Given the description of an element on the screen output the (x, y) to click on. 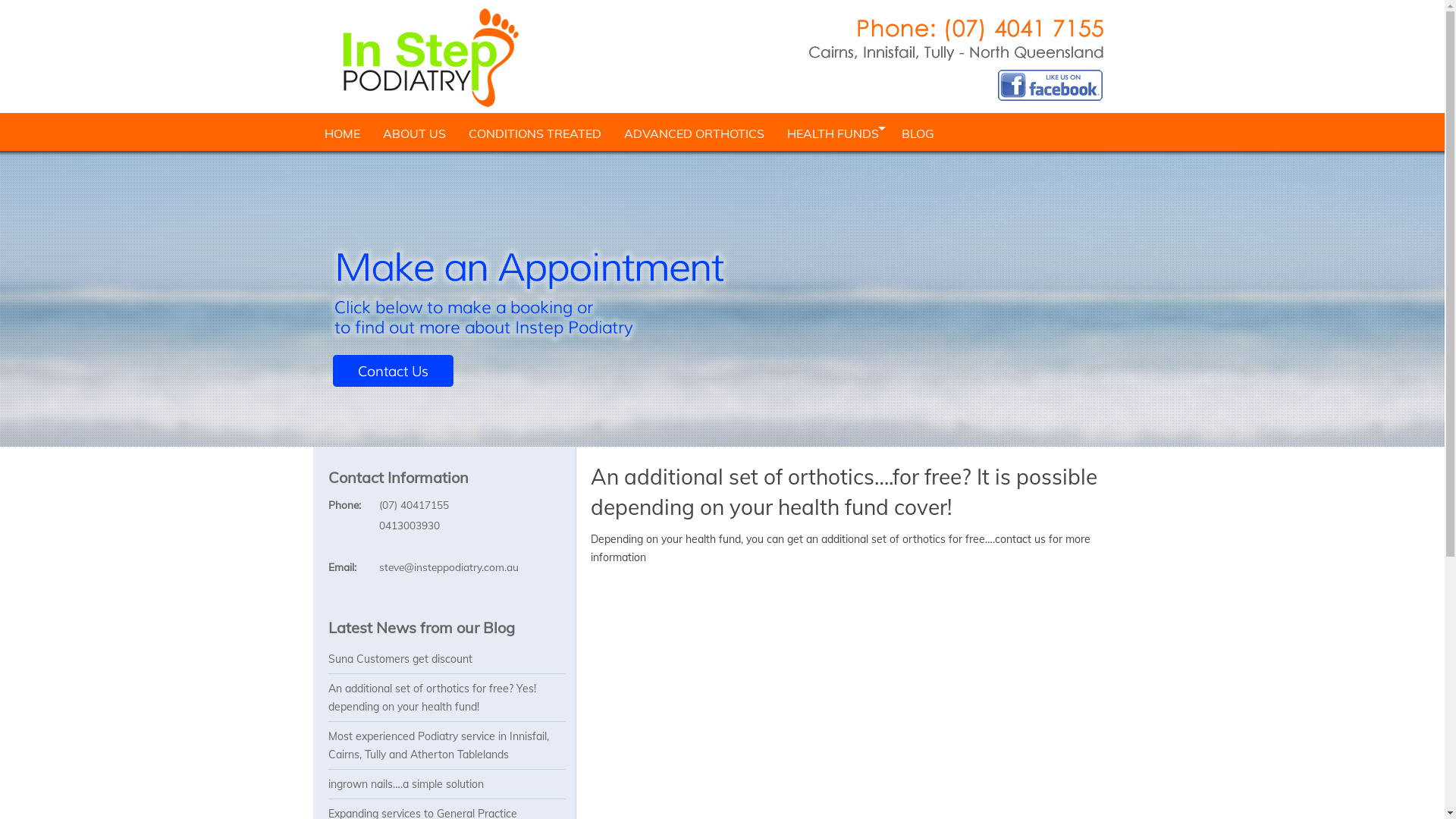
BLOG Element type: text (917, 131)
HEALTH FUNDS Element type: text (832, 131)
steve@insteppodiatry.com.au Element type: text (448, 566)
ABOUT US Element type: text (414, 131)
ADVANCED ORTHOTICS Element type: text (693, 131)
CONDITIONS TREATED Element type: text (533, 131)
HOME Element type: text (341, 131)
Suna Customers get discount Element type: text (399, 658)
